Given the description of an element on the screen output the (x, y) to click on. 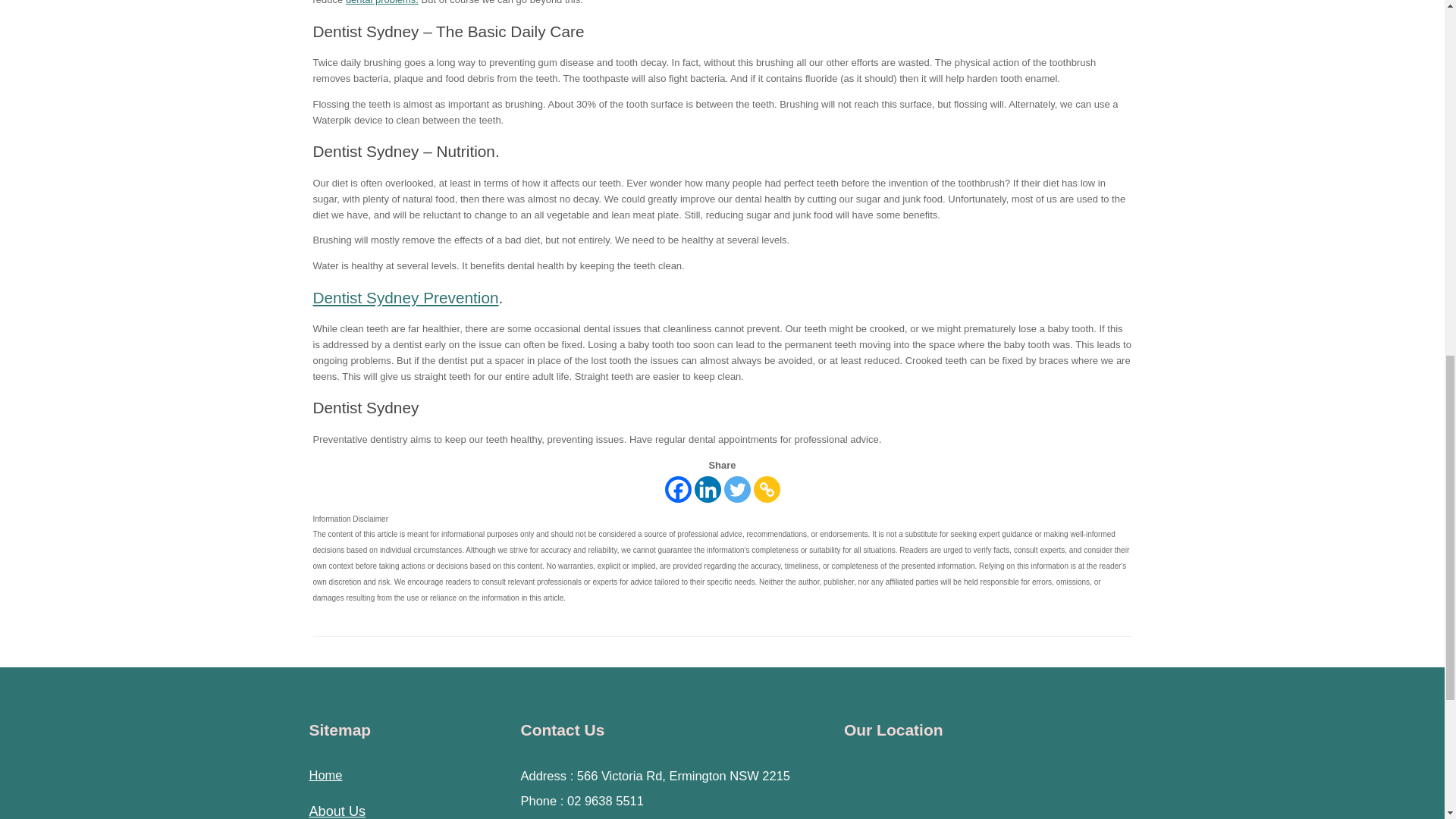
Linkedin (707, 488)
Facebook (676, 488)
dental problems. (382, 2)
Dentist Sydney Prevention (405, 297)
Copy Link (767, 488)
Dentist Victria Location (976, 794)
Twitter (736, 488)
